Given the description of an element on the screen output the (x, y) to click on. 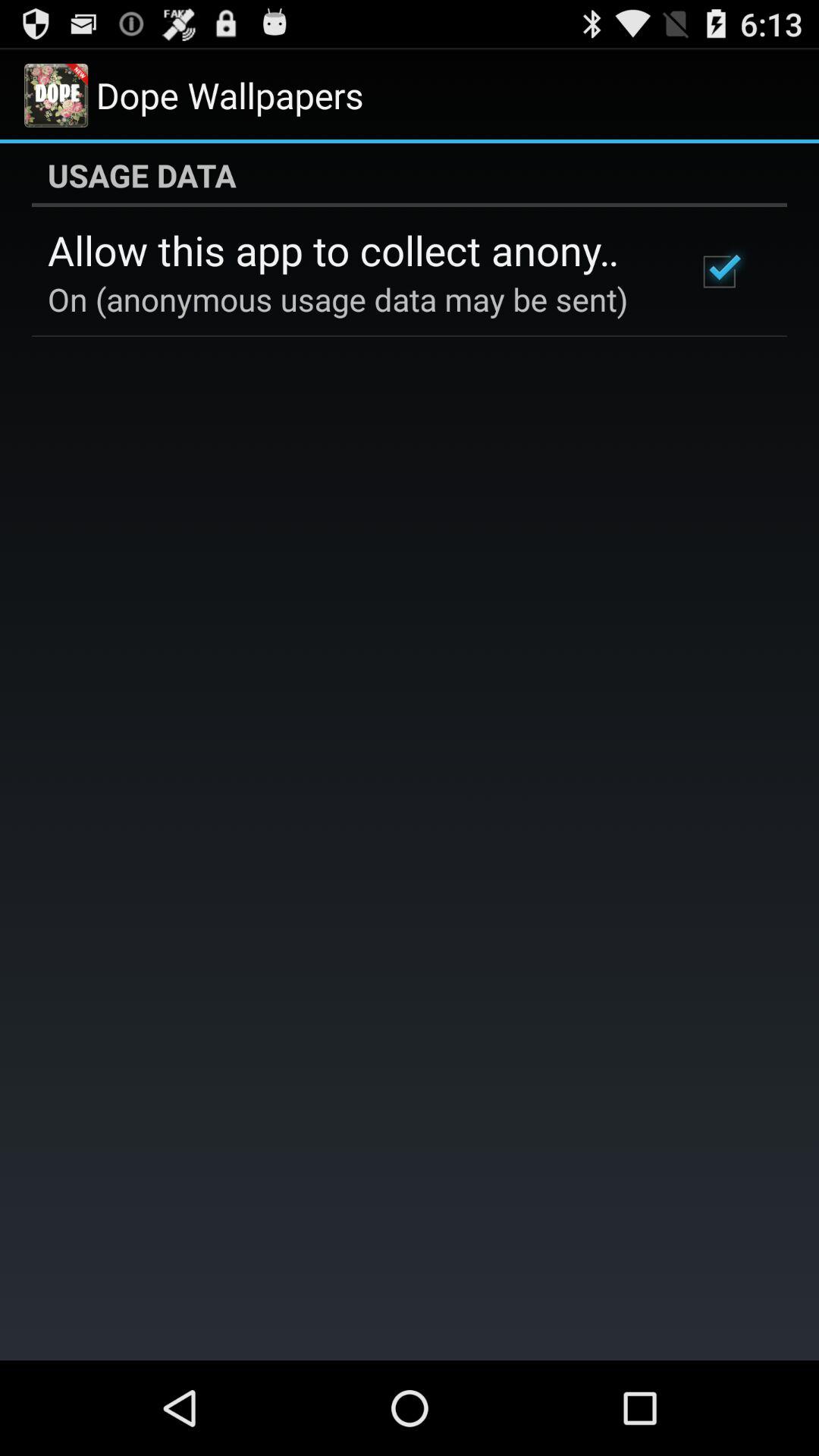
turn off icon at the top right corner (719, 271)
